Given the description of an element on the screen output the (x, y) to click on. 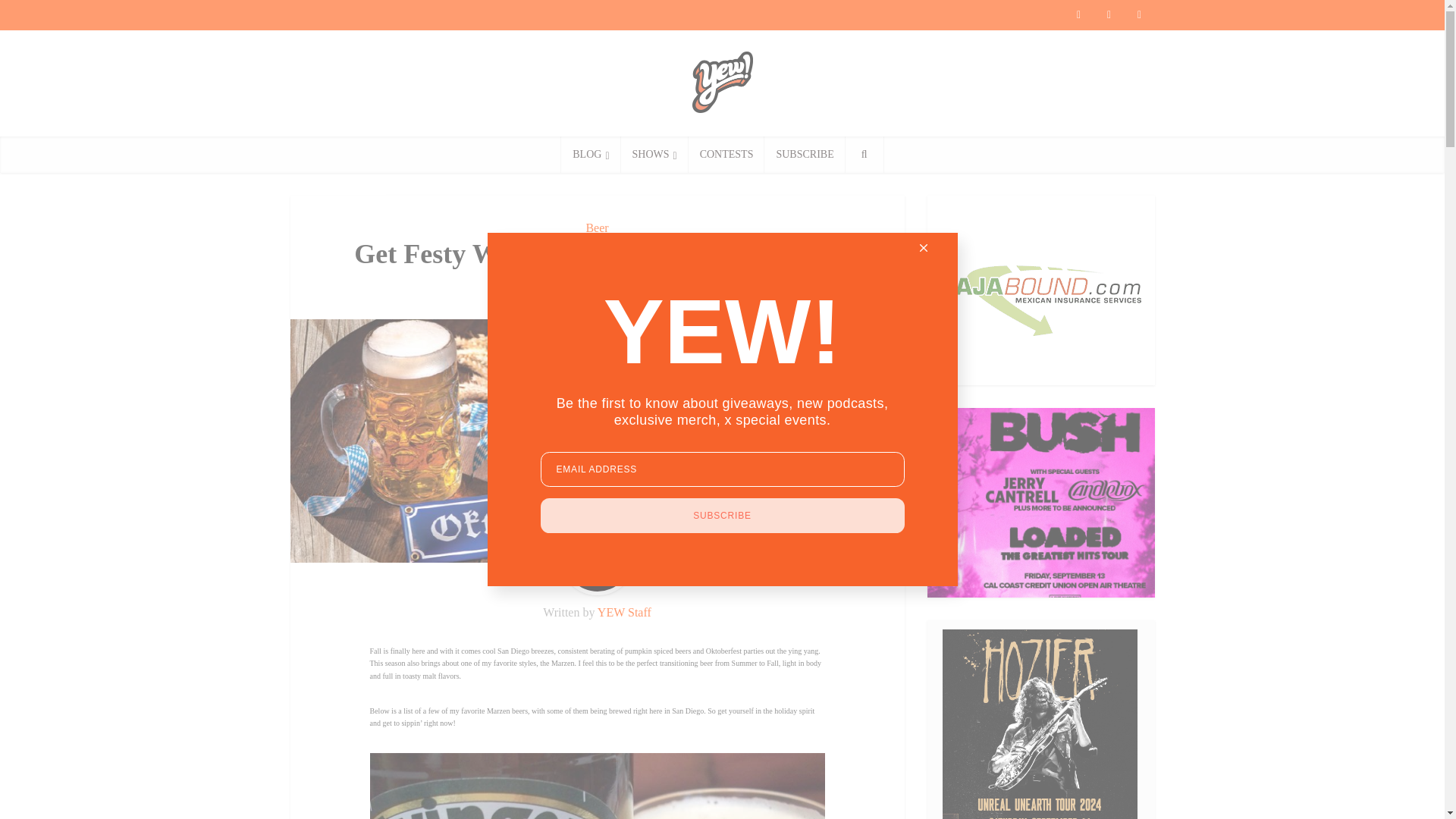
Beer (596, 227)
CONTESTS (726, 154)
YEW Staff (604, 288)
YEW Staff (623, 612)
SHOWS (654, 154)
BLOG (590, 154)
SUBSCRIBE (804, 154)
